Given the description of an element on the screen output the (x, y) to click on. 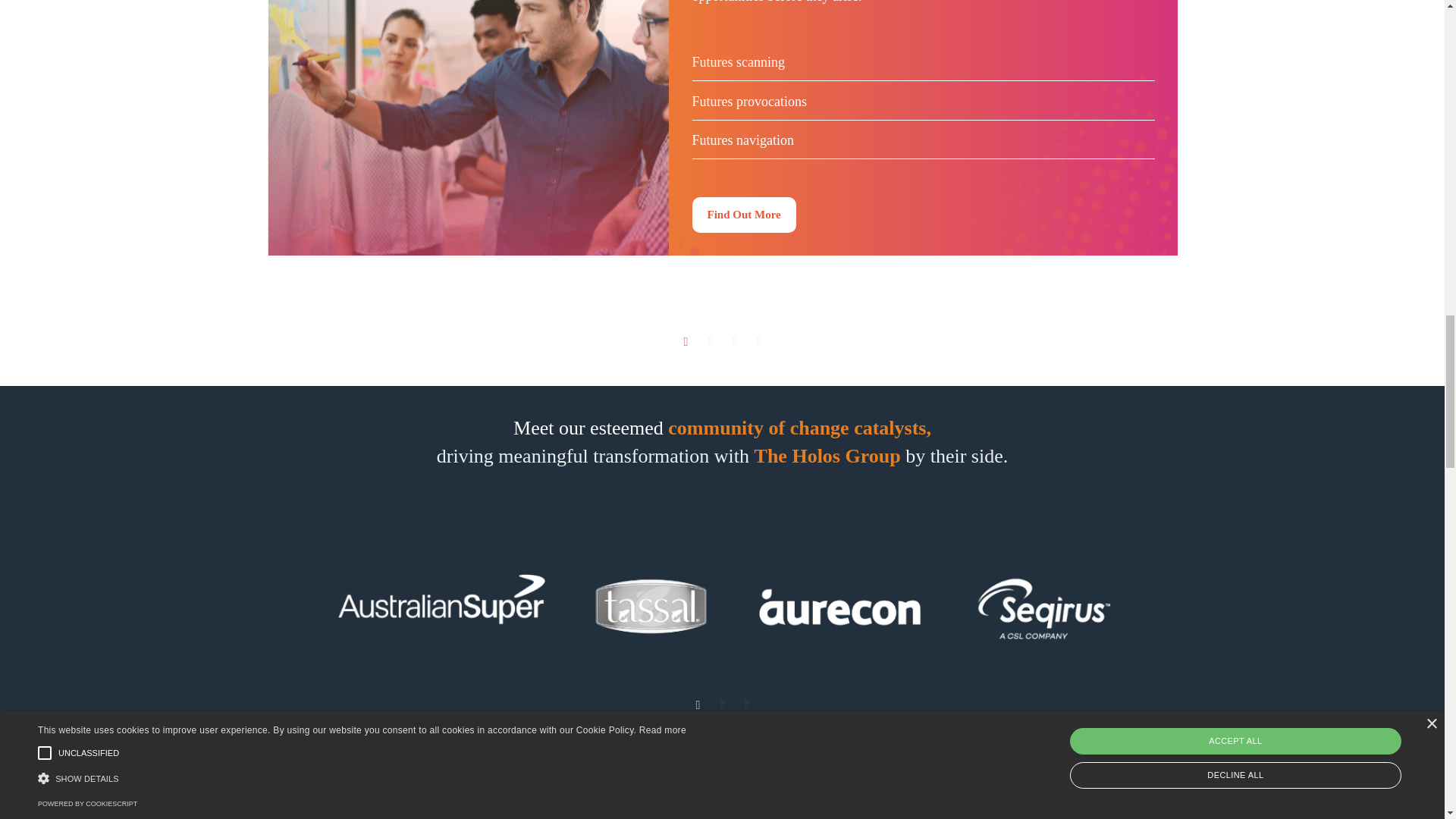
2 (709, 341)
2 (721, 704)
1 (697, 704)
4 (758, 341)
Find Out More (742, 214)
3 (746, 704)
3 (733, 341)
1 (685, 341)
